Given the description of an element on the screen output the (x, y) to click on. 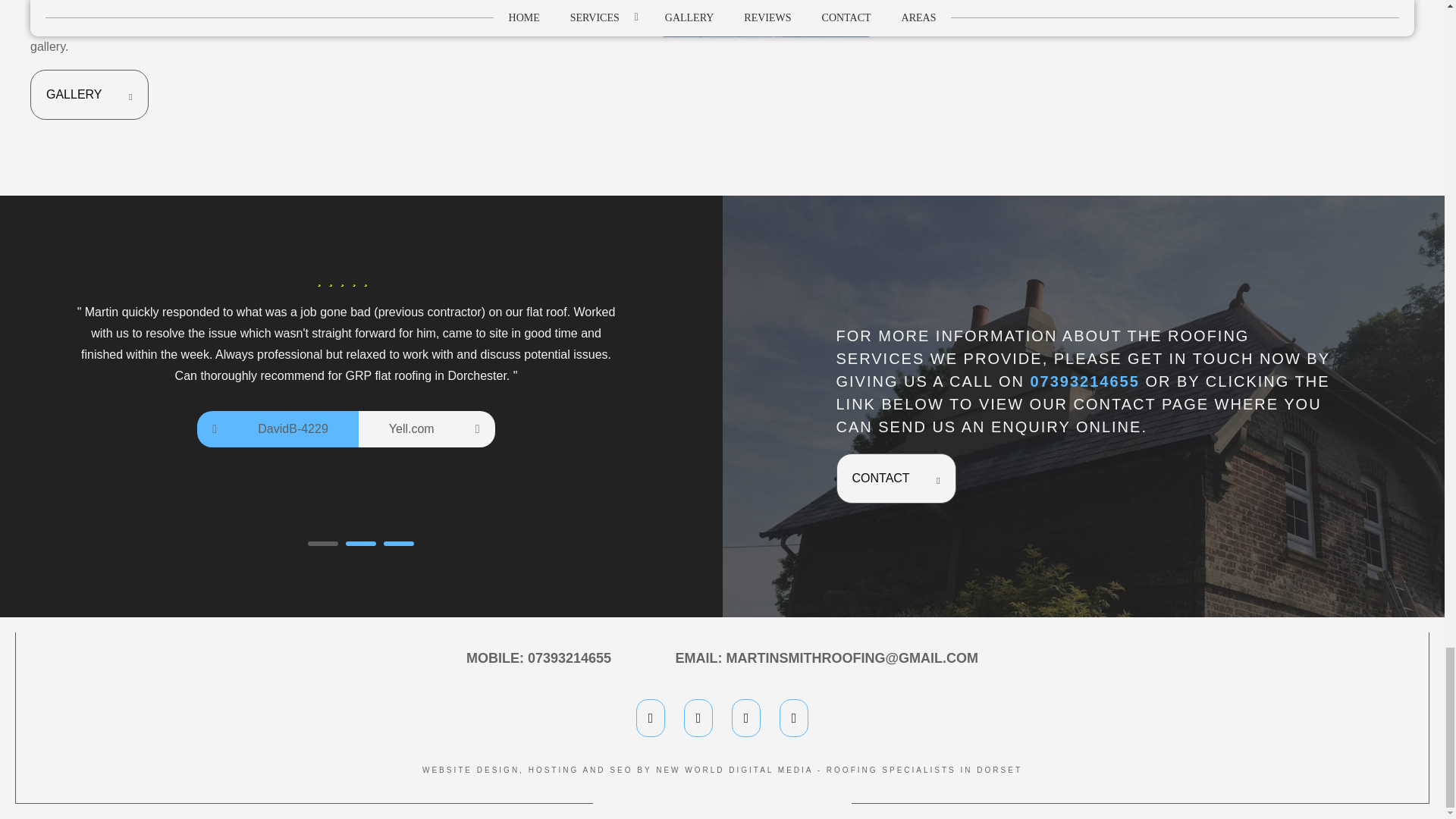
GALLERY (89, 94)
1 (322, 543)
